Given the description of an element on the screen output the (x, y) to click on. 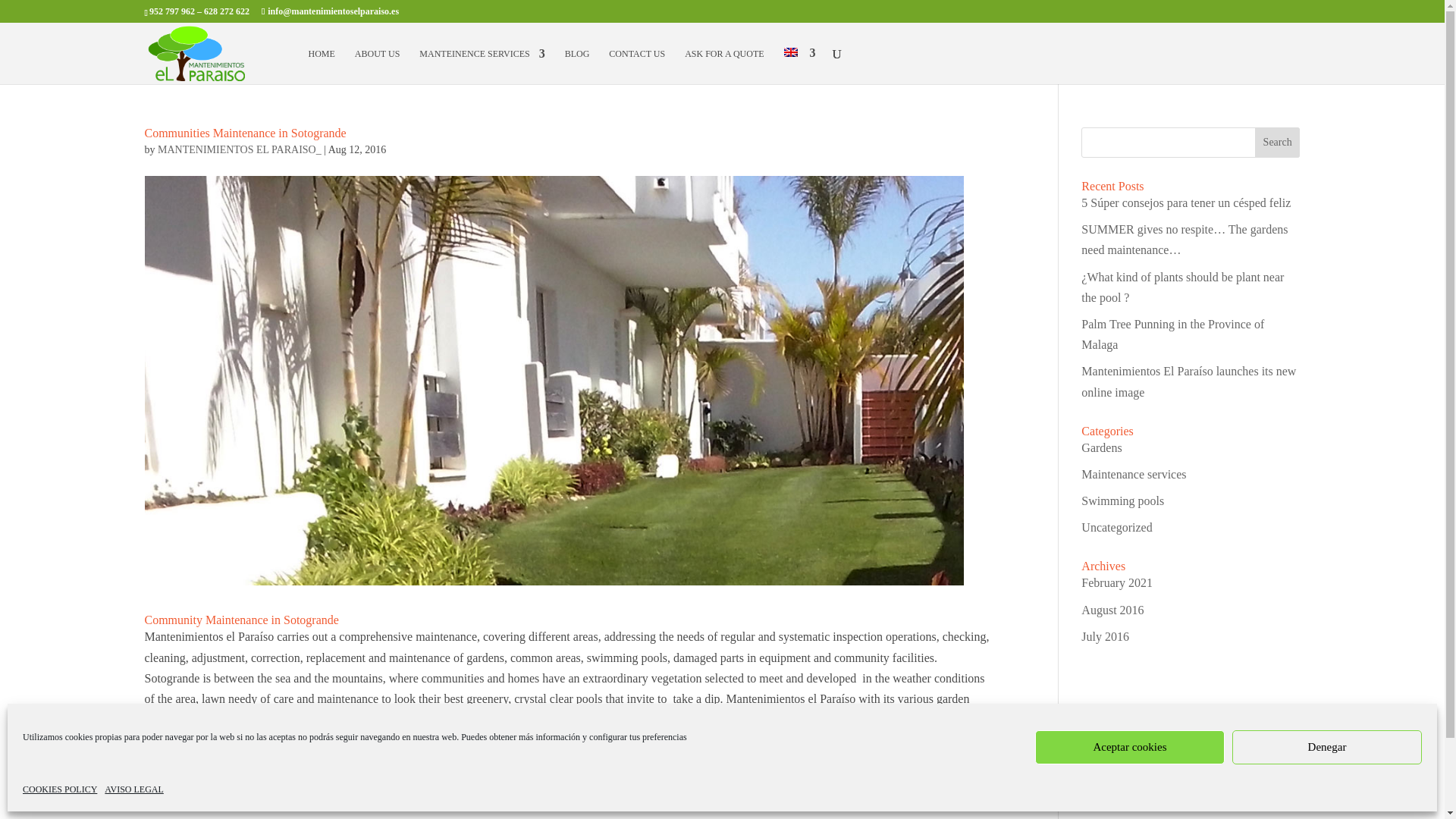
Search (1277, 142)
Aceptar cookies (1129, 747)
ABOUT US (376, 66)
BLOG (576, 66)
AVISO LEGAL (133, 789)
MANTEINENCE SERVICES (481, 66)
COOKIES POLICY (60, 789)
ASK FOR A QUOTE (723, 66)
English (790, 51)
HOME (320, 66)
Denegar (1326, 747)
CONTACT US (636, 66)
